Given the description of an element on the screen output the (x, y) to click on. 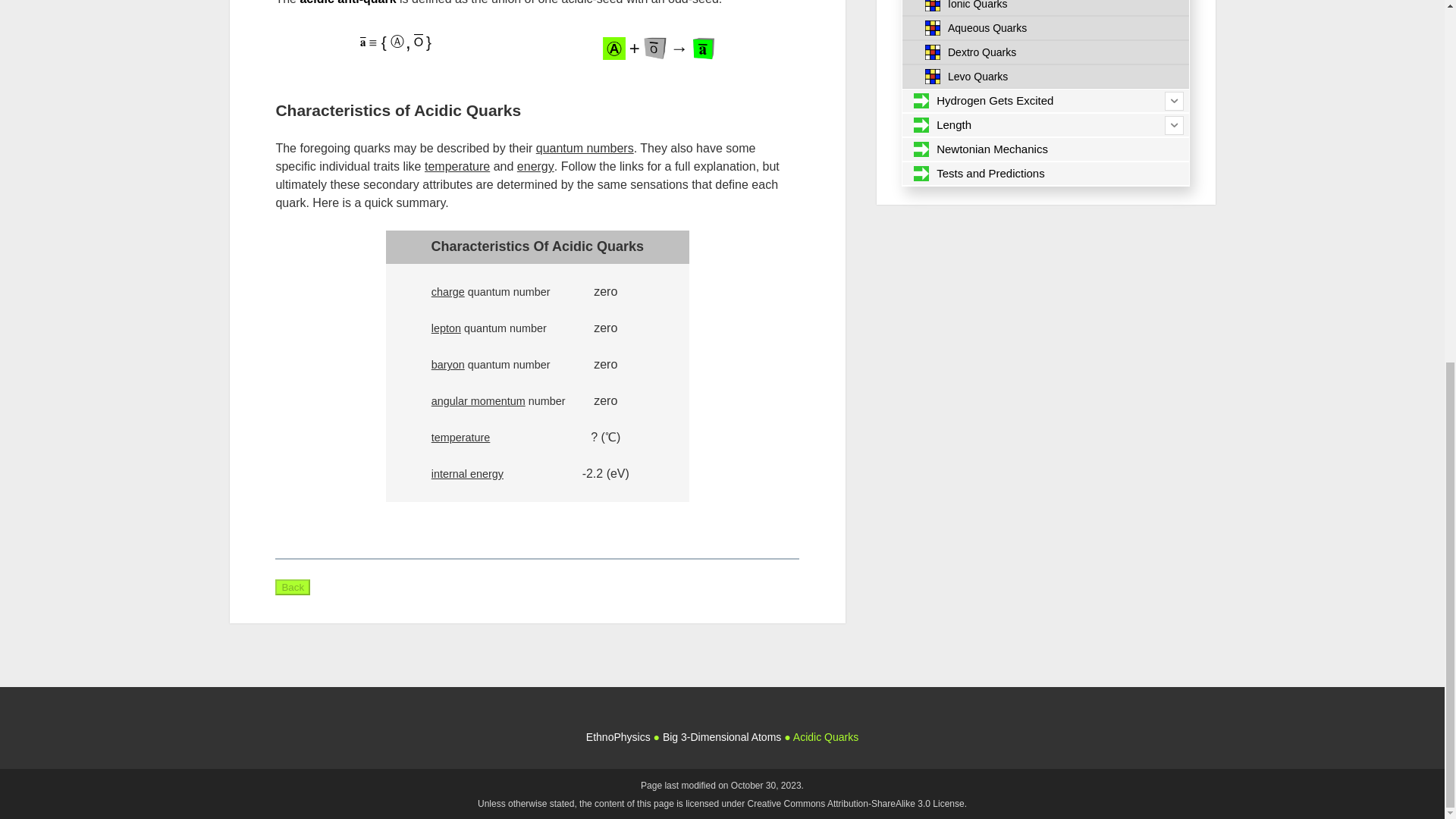
Rendered by QuickLaTeX.com (368, 40)
temperature (460, 437)
quantum numbers (584, 147)
lepton (445, 328)
temperature (457, 165)
Go to EthnoPhysics. (618, 736)
charge (447, 291)
Go to Big 3-Dimensional Atoms. (721, 736)
energy (535, 165)
internal energy (466, 473)
